Given the description of an element on the screen output the (x, y) to click on. 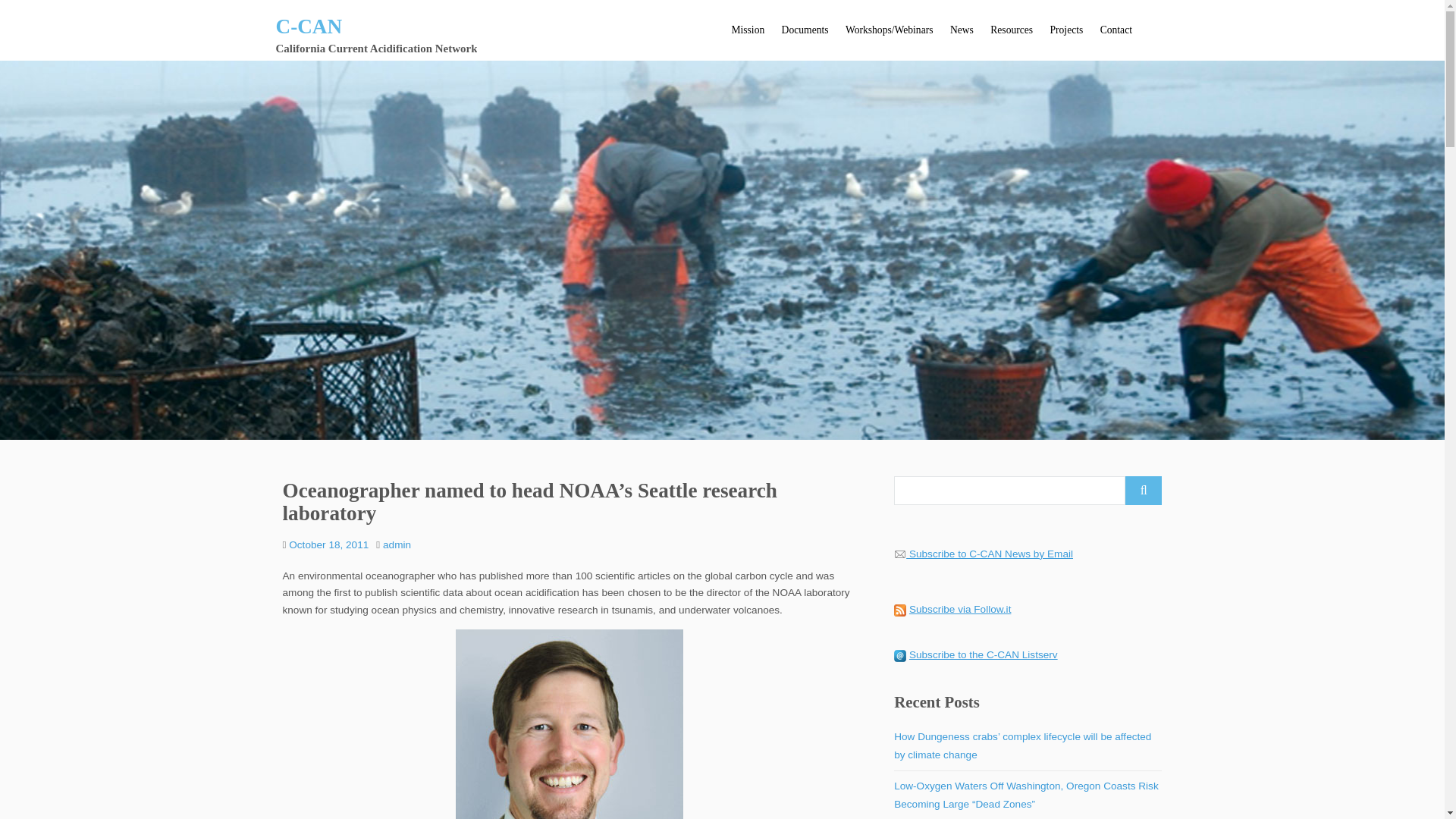
admin (396, 544)
Subscribe via Follow.it (959, 609)
C-CAN (309, 26)
Subscribe to C-CAN News by Email (990, 553)
Search (1143, 490)
C-CAN (309, 26)
Documents (804, 30)
October 18, 2011 (328, 544)
Subscribe to the C-CAN Listserv (983, 654)
Resources (1011, 30)
